Given the description of an element on the screen output the (x, y) to click on. 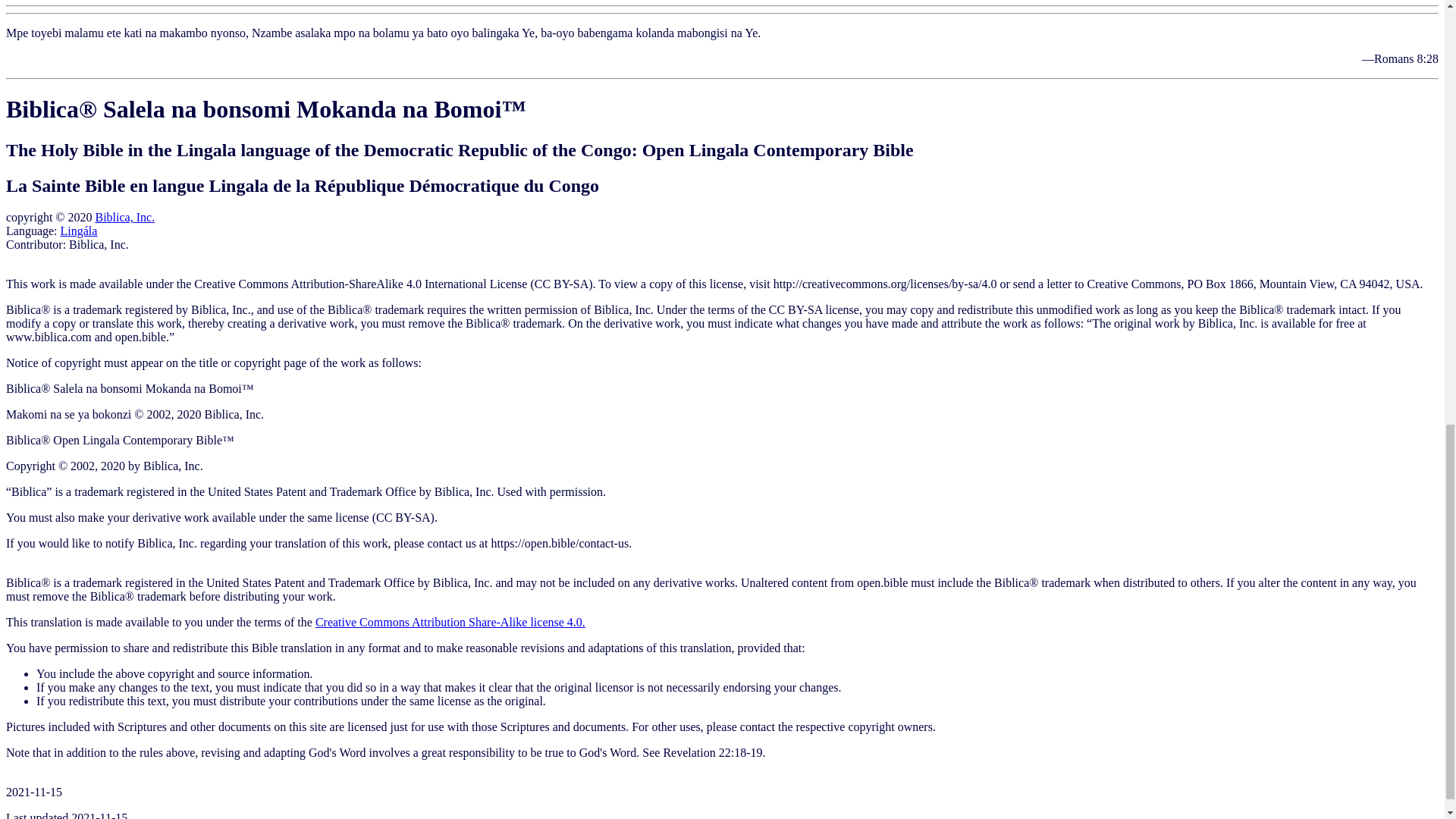
Creative Commons Attribution Share-Alike license 4.0. (450, 621)
Biblica, Inc. (124, 216)
